Given the description of an element on the screen output the (x, y) to click on. 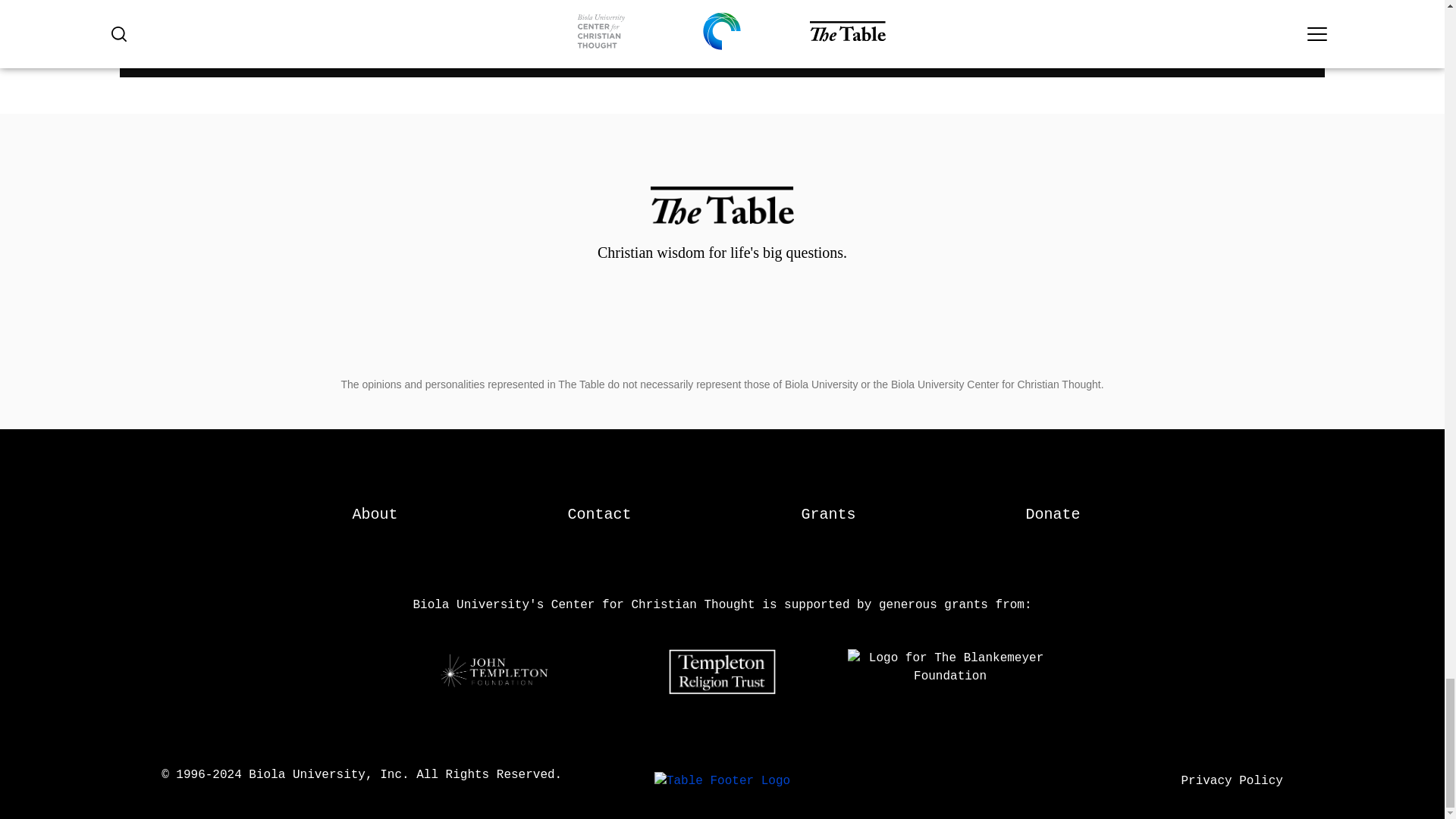
Biola University Center for Christian Thought (721, 780)
About (374, 514)
Go to page Grants (828, 514)
Go to page About (374, 514)
Go to page Contact (599, 514)
Contact (599, 514)
Go to page Donate (1052, 514)
